Given the description of an element on the screen output the (x, y) to click on. 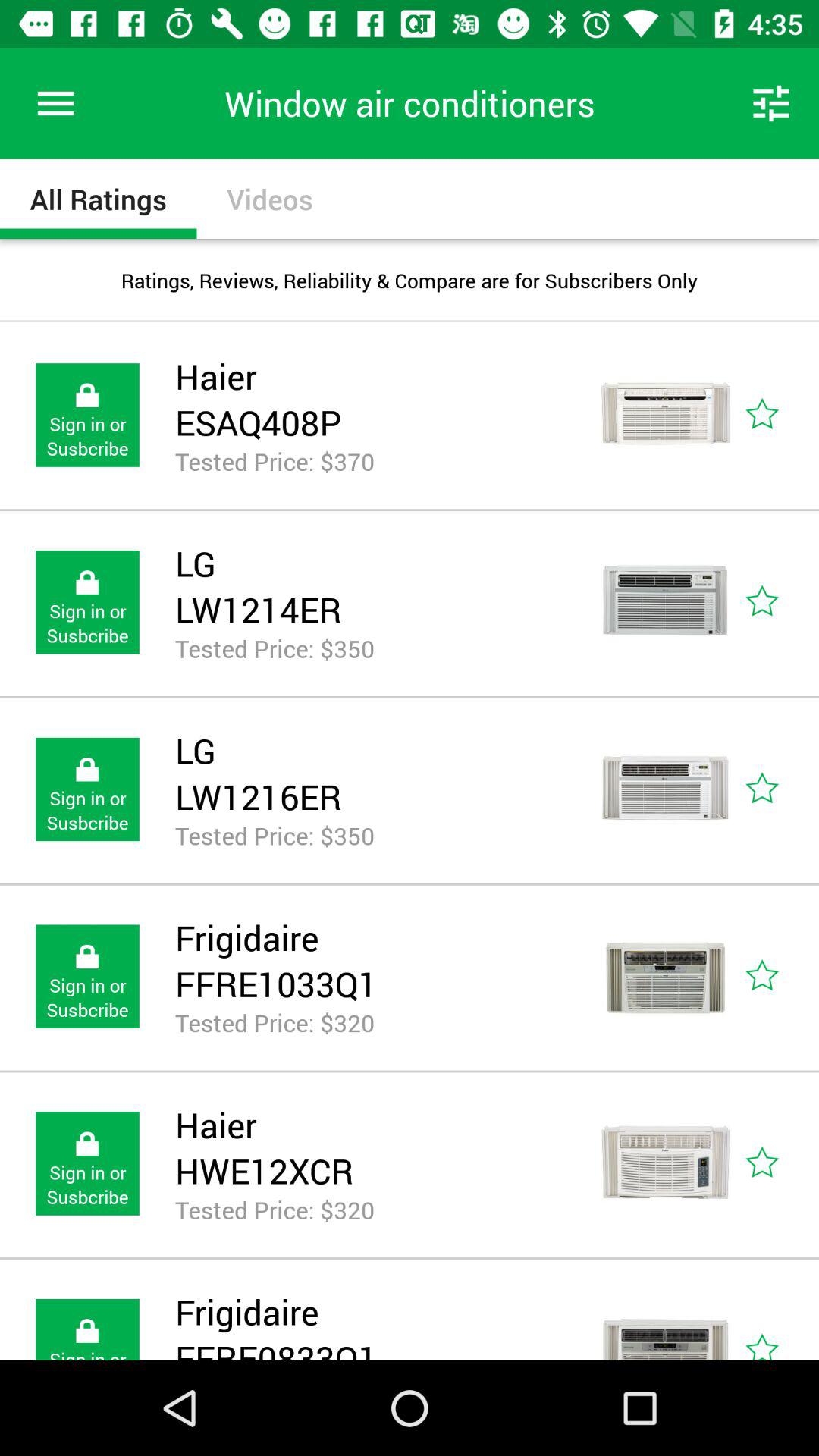
mark as a favorite (779, 602)
